Given the description of an element on the screen output the (x, y) to click on. 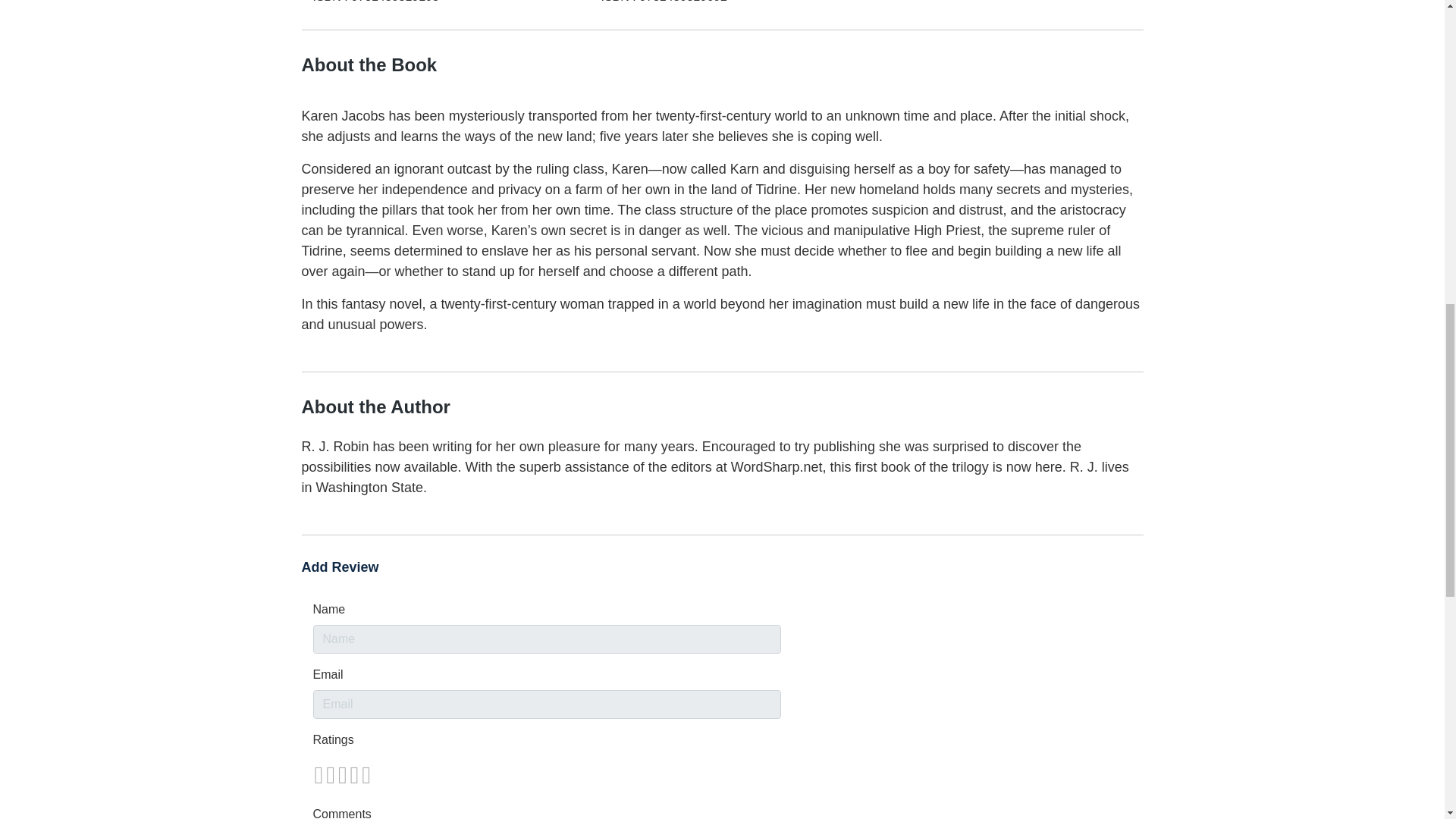
Not Rated (342, 774)
